Given the description of an element on the screen output the (x, y) to click on. 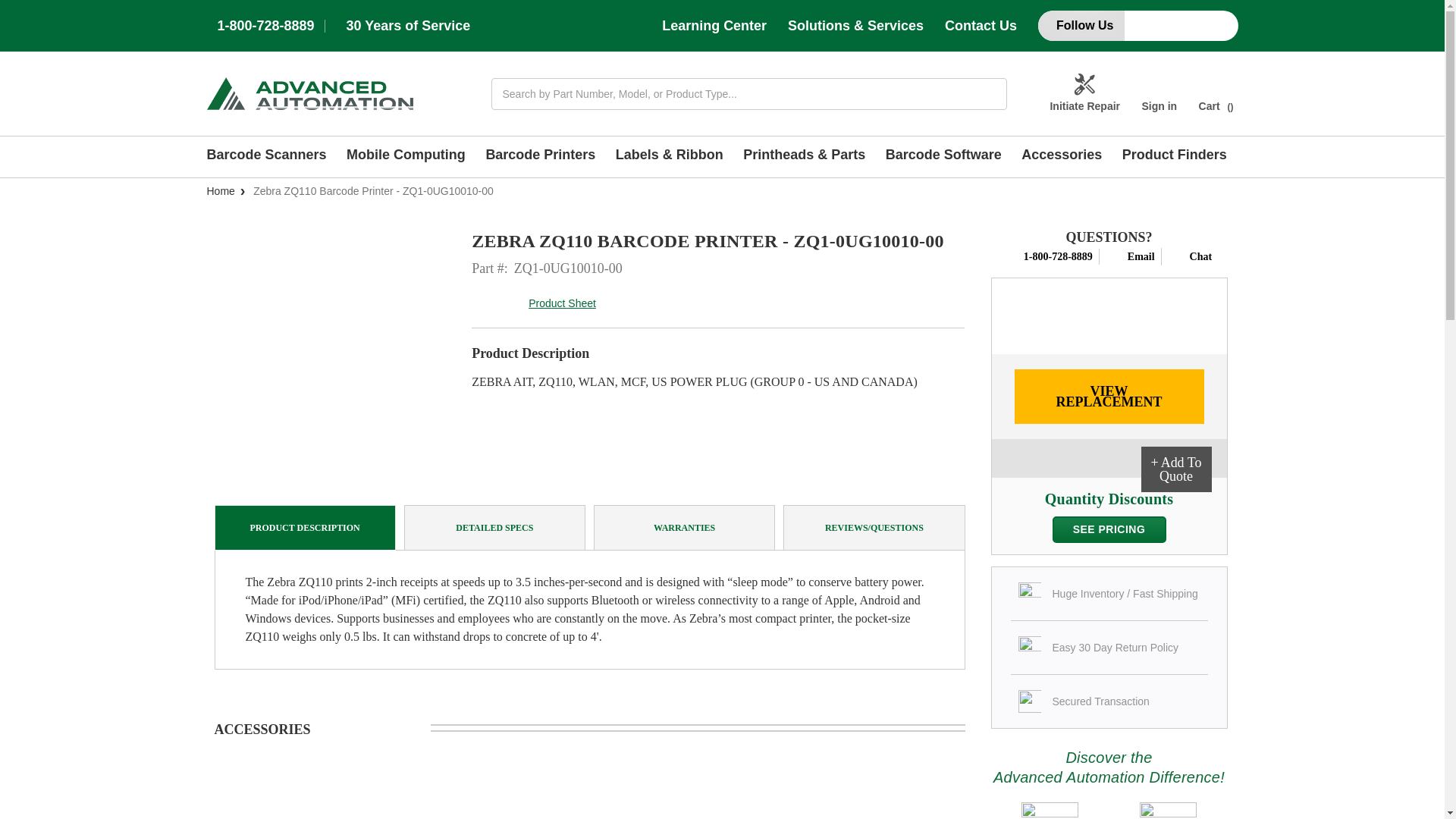
Advanced Automation (309, 93)
Learning Center (714, 25)
Initiate Repair (1084, 93)
Contact Us (980, 25)
1-800-728-8889 (265, 25)
Barcode Scanners (271, 156)
